Given the description of an element on the screen output the (x, y) to click on. 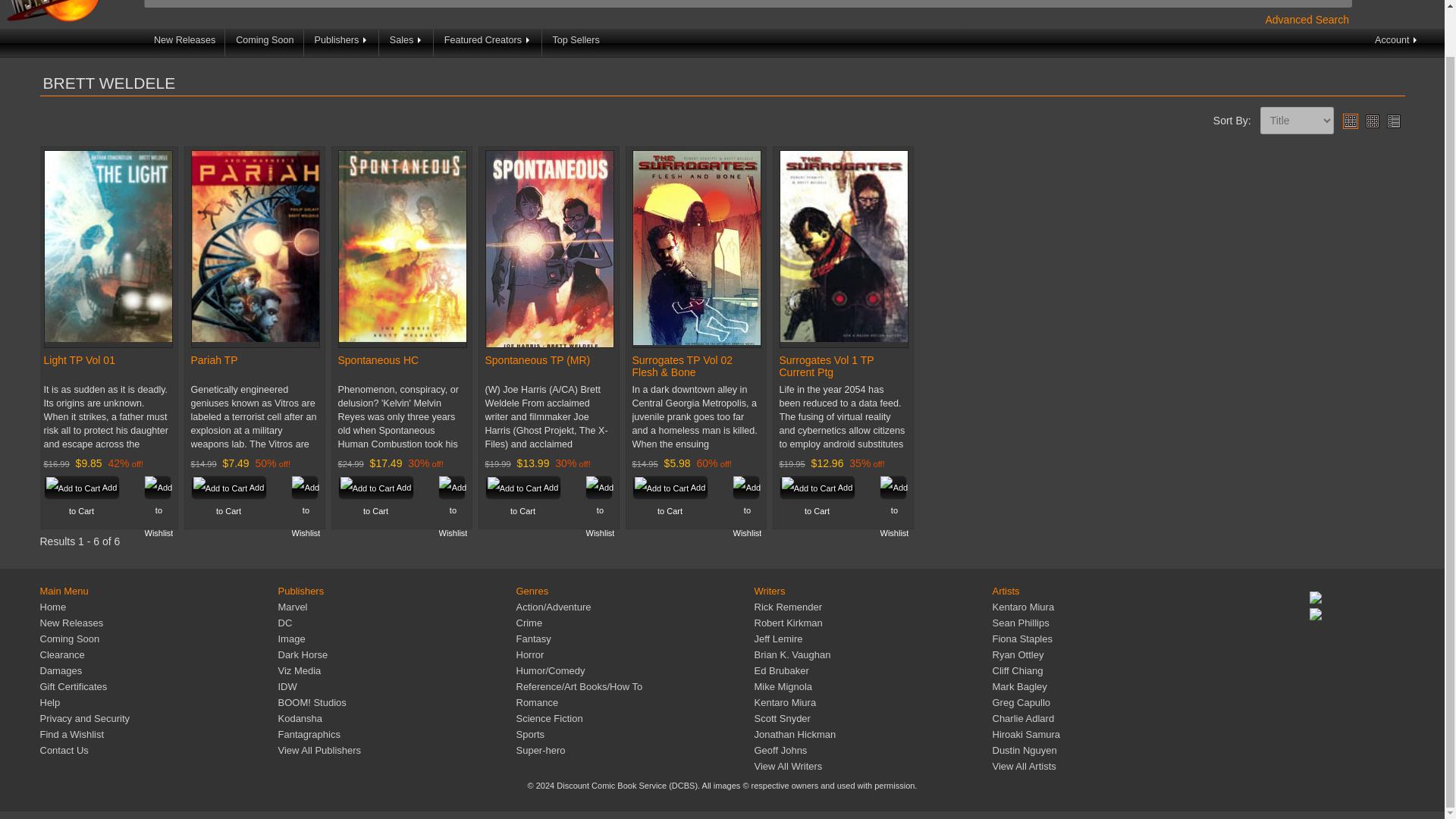
Add to Cart (817, 487)
Thumbnail List View (1392, 120)
Add to Cart (228, 487)
Add to Cart (228, 487)
Featured Creators (488, 42)
Publishers (341, 42)
Coming Soon (264, 42)
New Releases (184, 42)
Thumbnail Plus View (1349, 120)
Add to Cart (669, 487)
